Given the description of an element on the screen output the (x, y) to click on. 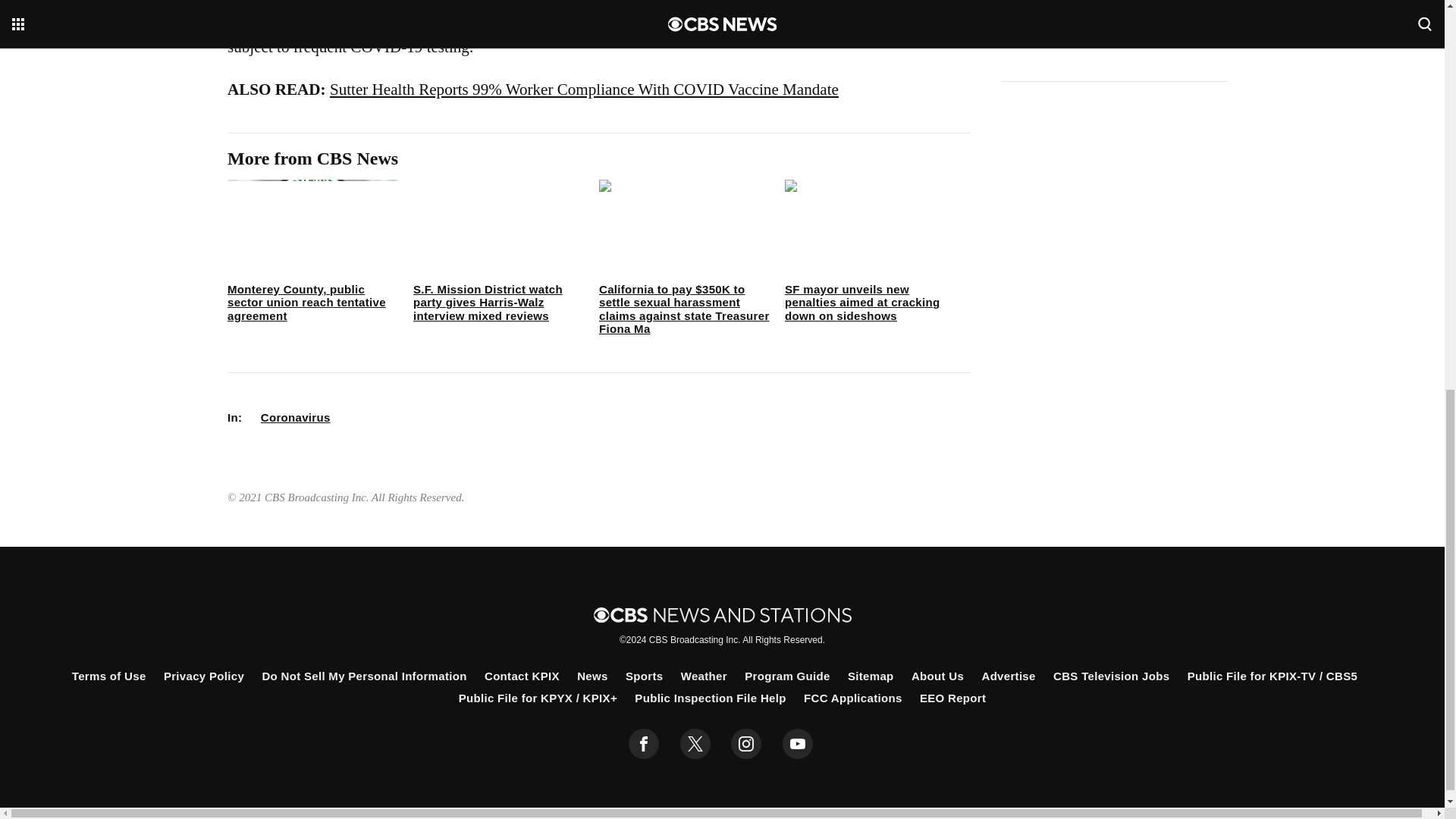
instagram (745, 743)
twitter (694, 743)
facebook (643, 743)
youtube (797, 743)
